Given the description of an element on the screen output the (x, y) to click on. 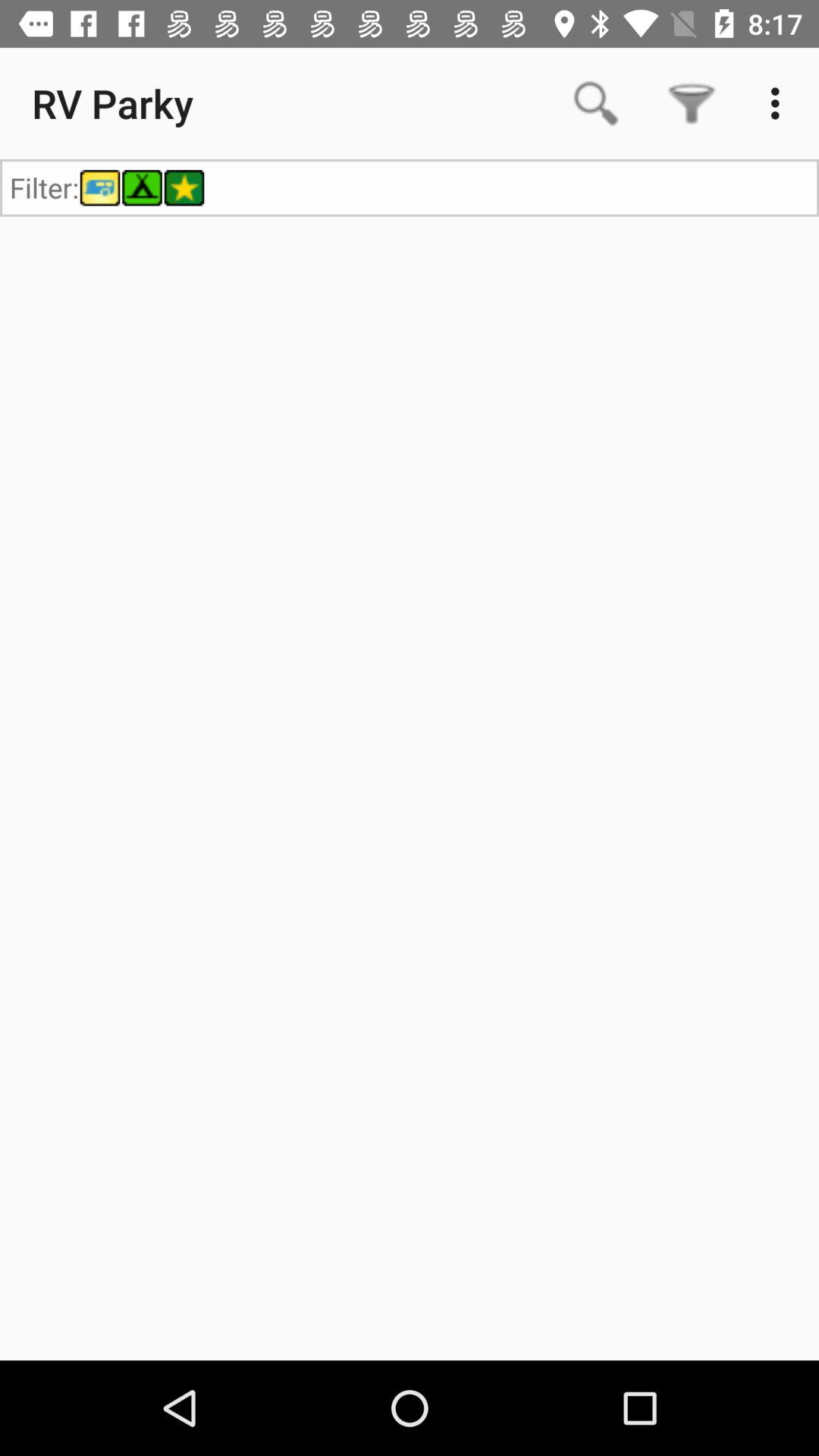
select app to the right of rv parky icon (595, 103)
